Given the description of an element on the screen output the (x, y) to click on. 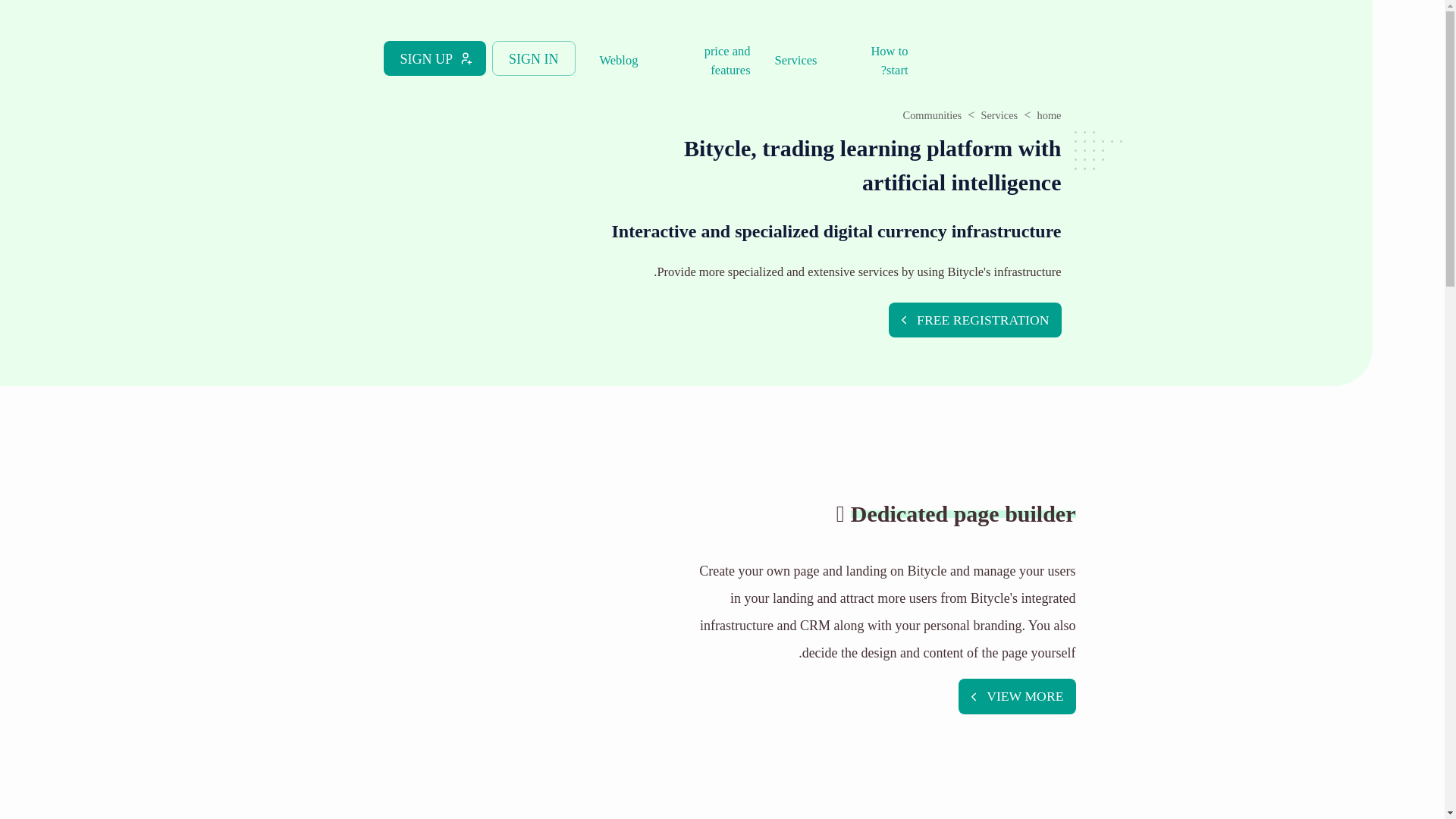
SIGN UP (435, 58)
price and features (705, 60)
Weblog (619, 59)
SIGN IN (533, 58)
Services (998, 114)
Communities (932, 114)
VIEW MORE (1016, 696)
Services (795, 59)
FREE REGISTRATION (974, 320)
How to start? (874, 60)
home (1048, 114)
